Given the description of an element on the screen output the (x, y) to click on. 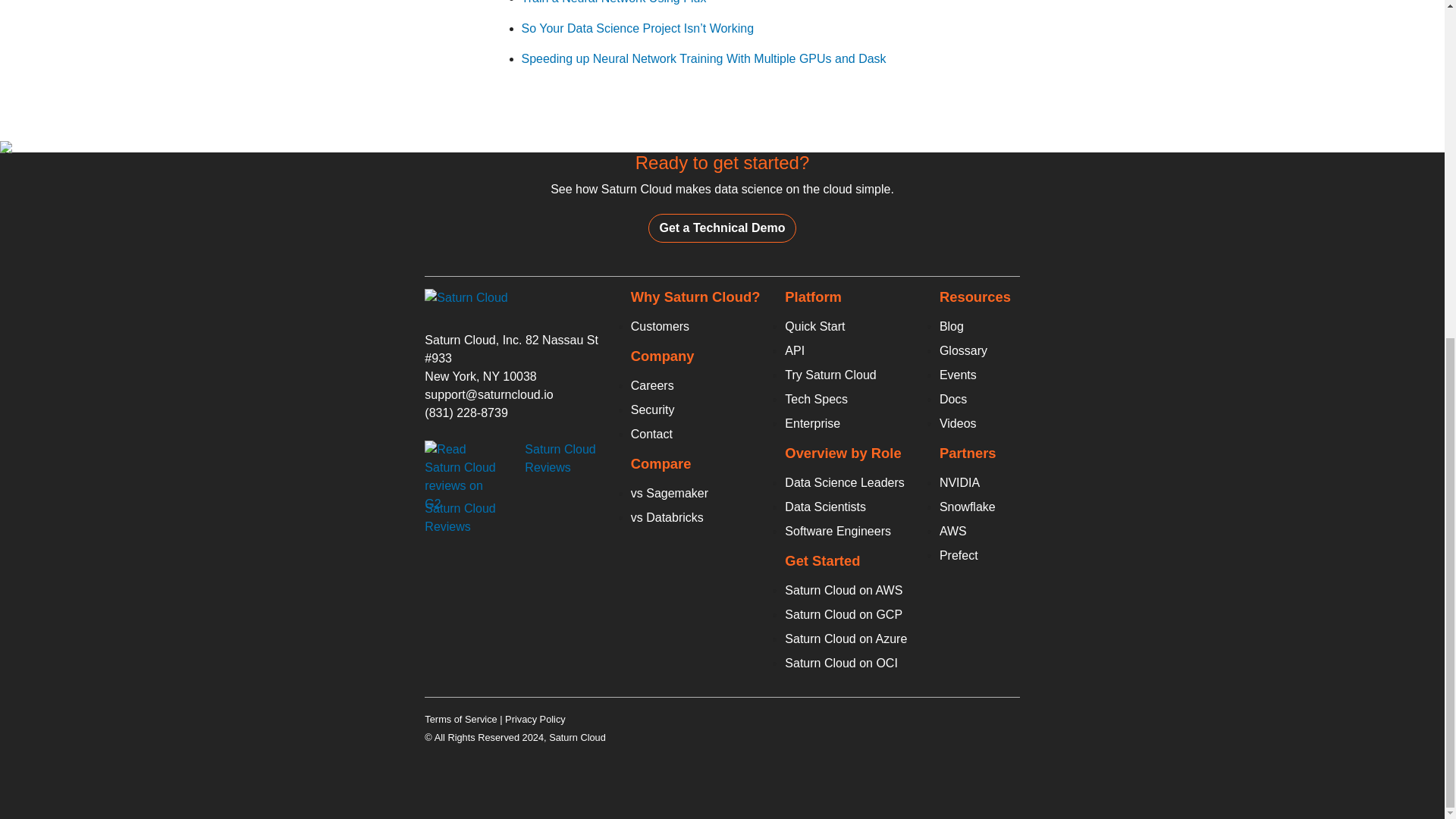
Careers (652, 385)
Train a Neural Network Using Flux (613, 2)
Saturn Cloud Reviews (460, 517)
Saturn Cloud Reviews (559, 458)
Read reviews of Saturn Cloud on G2 (462, 476)
Get a Technical Demo (721, 227)
Customers (659, 326)
